Given the description of an element on the screen output the (x, y) to click on. 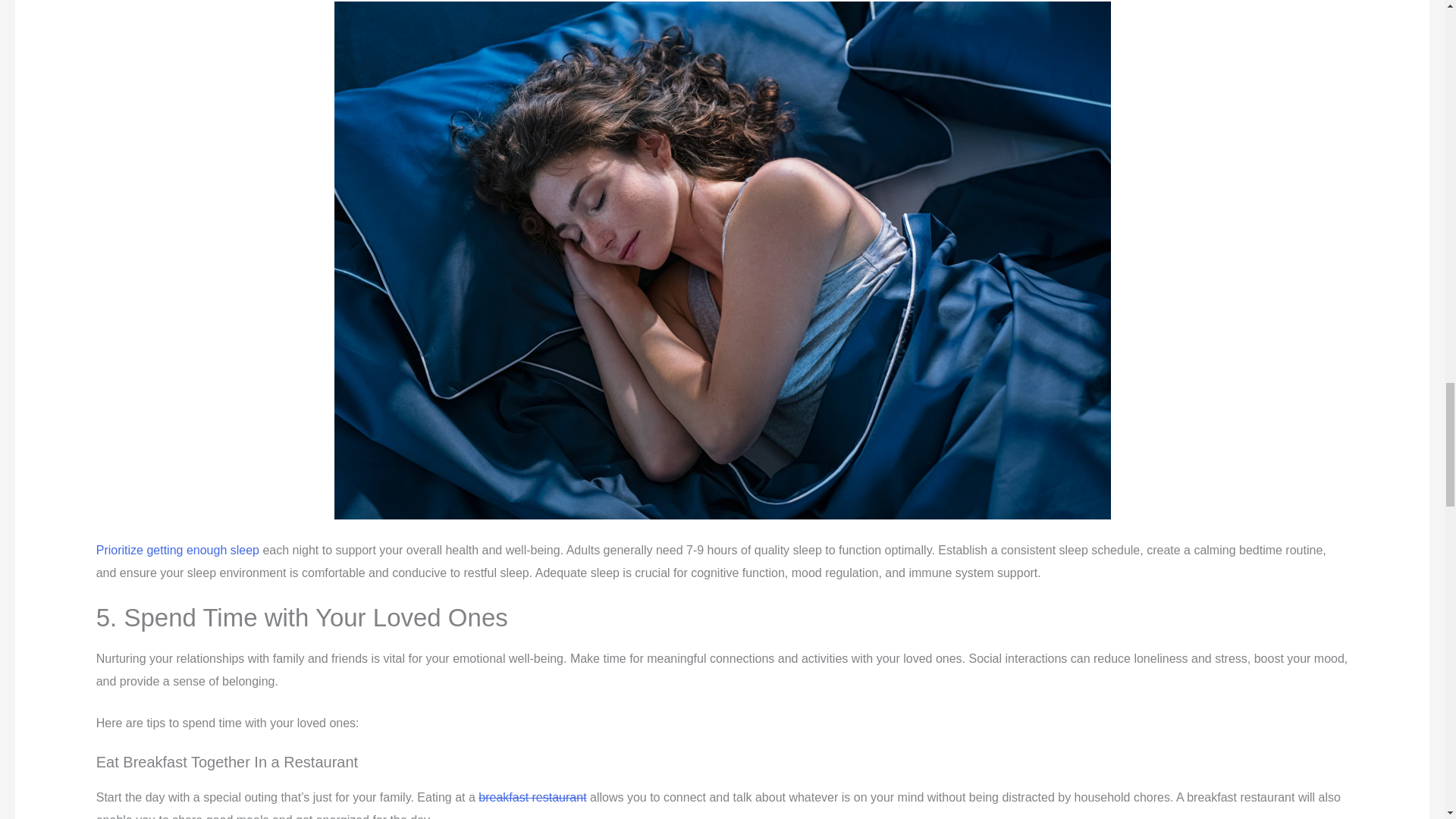
breakfast restaurant (532, 797)
Prioritize getting enough sleep (177, 549)
